Given the description of an element on the screen output the (x, y) to click on. 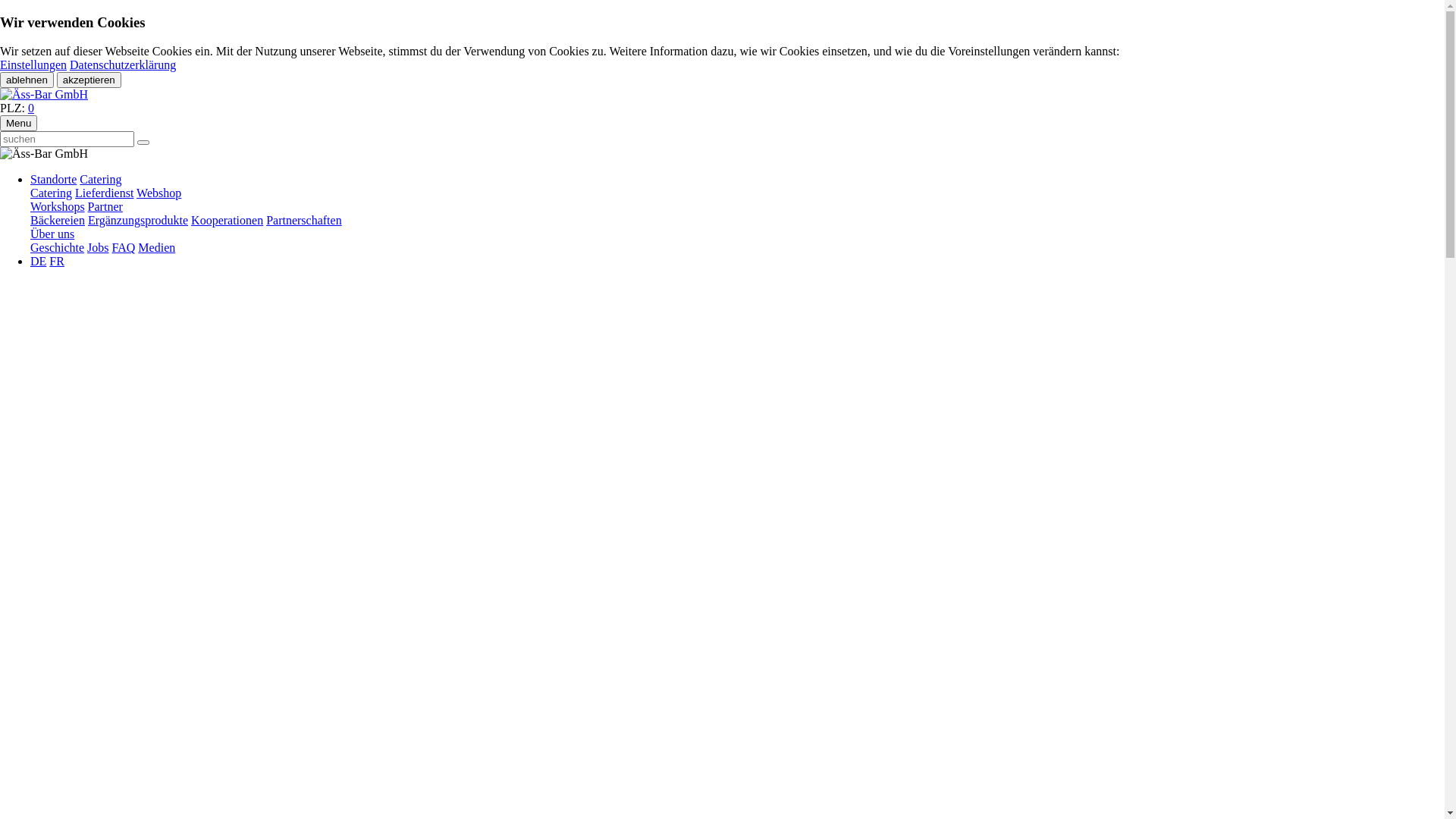
Catering Element type: text (100, 178)
Webshop Element type: text (158, 192)
DE Element type: text (38, 260)
Medien Element type: text (156, 247)
Standorte Element type: text (53, 178)
Workshops Element type: text (57, 206)
Lieferdienst Element type: text (104, 192)
PLZ: Element type: text (14, 107)
ablehnen Element type: text (26, 79)
FR Element type: text (56, 260)
Jobs Element type: text (97, 247)
Einstellungen Element type: text (33, 64)
Kooperationen Element type: text (227, 219)
0 Element type: text (31, 107)
FAQ Element type: text (123, 247)
Menu Element type: text (18, 123)
akzeptieren Element type: text (88, 79)
Partnerschaften Element type: text (304, 219)
Partner Element type: text (104, 206)
Geschichte Element type: text (57, 247)
Catering Element type: text (51, 192)
